Given the description of an element on the screen output the (x, y) to click on. 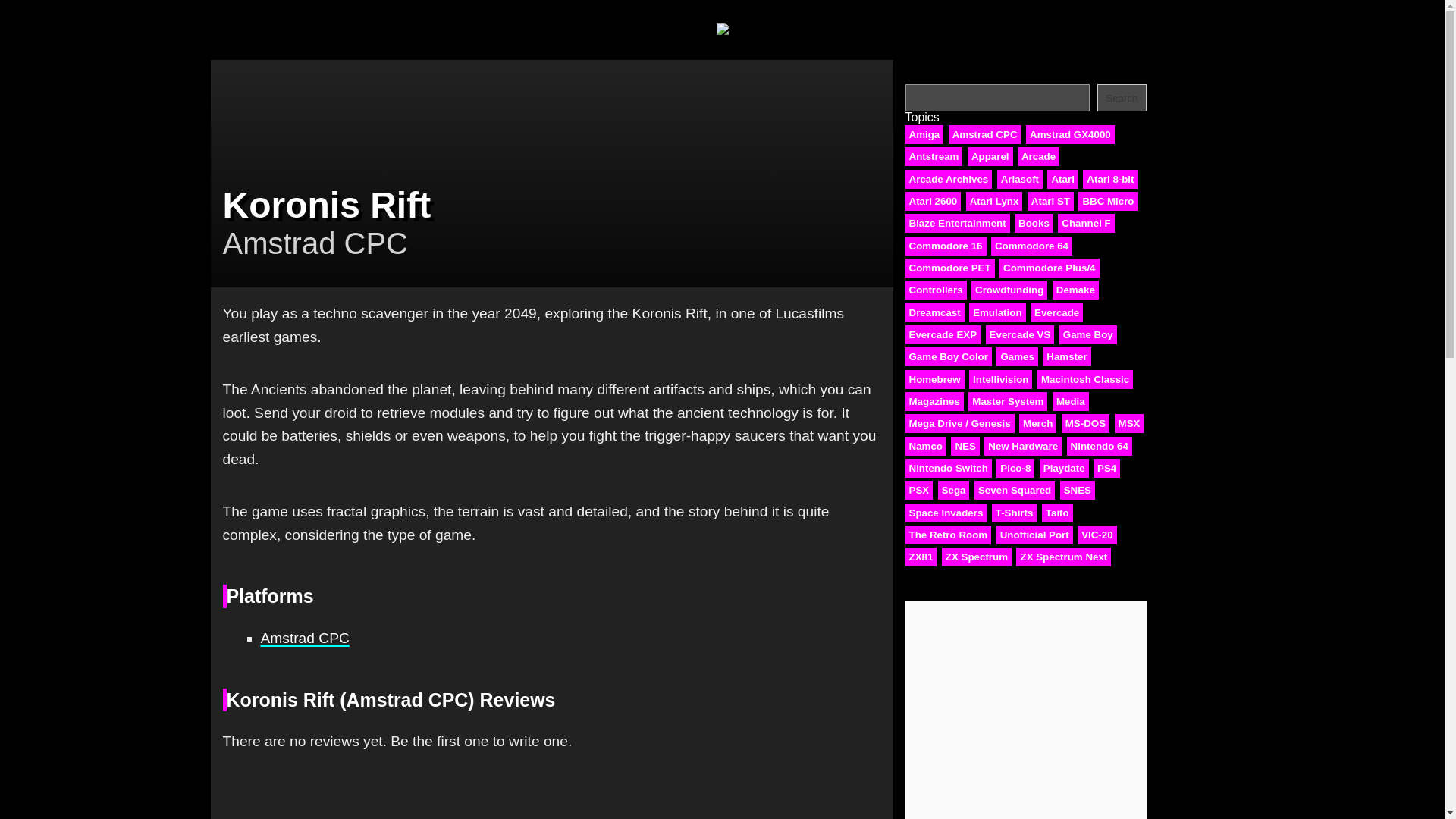
Commodore PET (949, 267)
Atari 8-bit (1110, 179)
Controllers (935, 289)
Arcade Archives (948, 179)
Commodore 64 (1031, 245)
BBC Micro (1107, 200)
Atari 2600 (932, 200)
Emulation (997, 312)
Antstream (933, 156)
Atari Lynx (994, 200)
Game Boy Color (948, 356)
Commodore 16 (946, 245)
Apparel (990, 156)
Atari ST (1050, 200)
Amiga (924, 134)
